Given the description of an element on the screen output the (x, y) to click on. 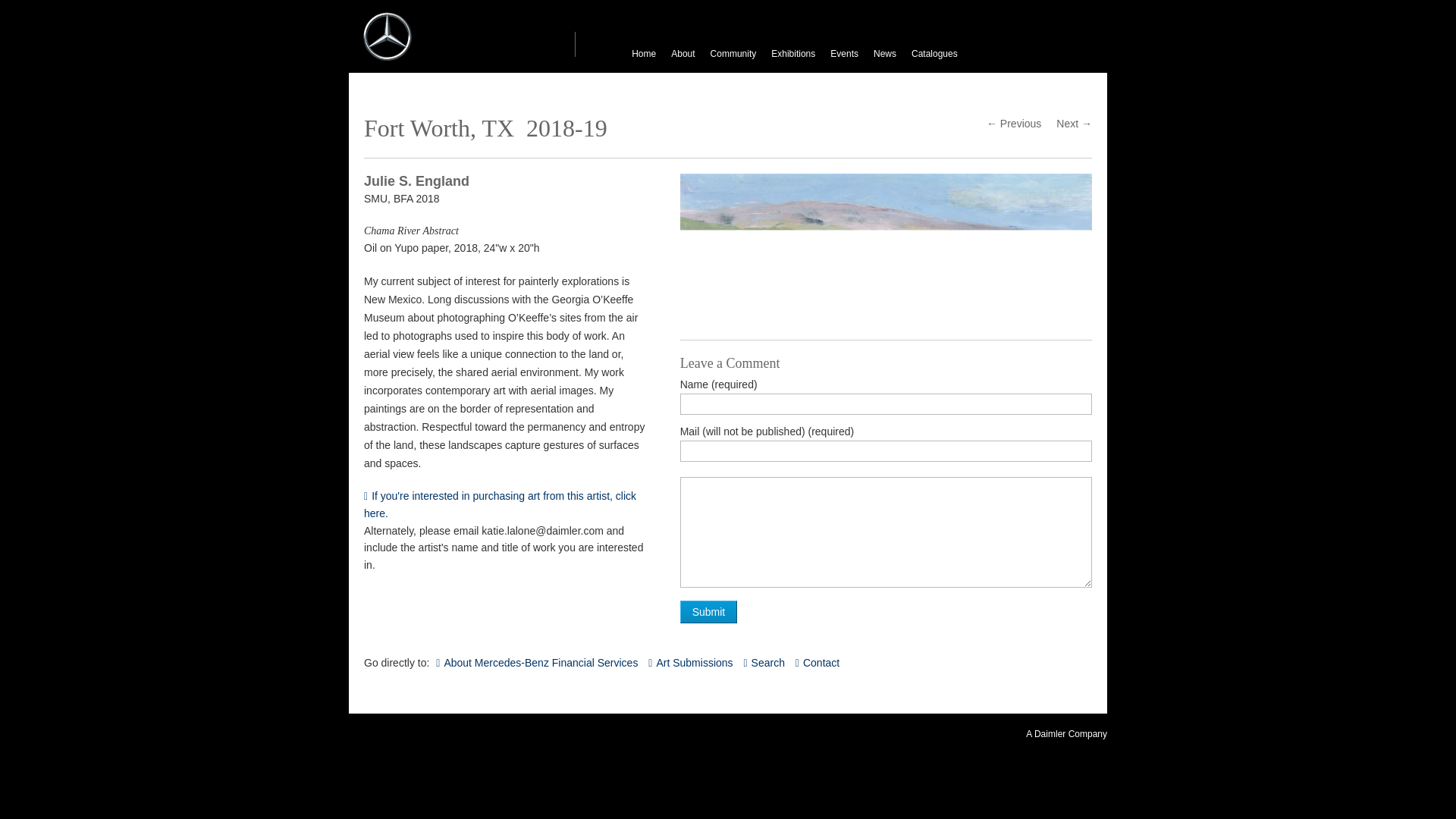
Community (733, 53)
Home (885, 308)
News (643, 53)
About Mercedes-Benz Financial Services (885, 53)
Events (536, 662)
Catalogues (844, 53)
Permanent Link to England Julie S. (934, 53)
About (506, 504)
Search (682, 53)
Fort Worth, TX  2018-19 (763, 662)
Submit (485, 127)
Contact (708, 611)
Art Submissions (817, 662)
Submit (689, 662)
